Given the description of an element on the screen output the (x, y) to click on. 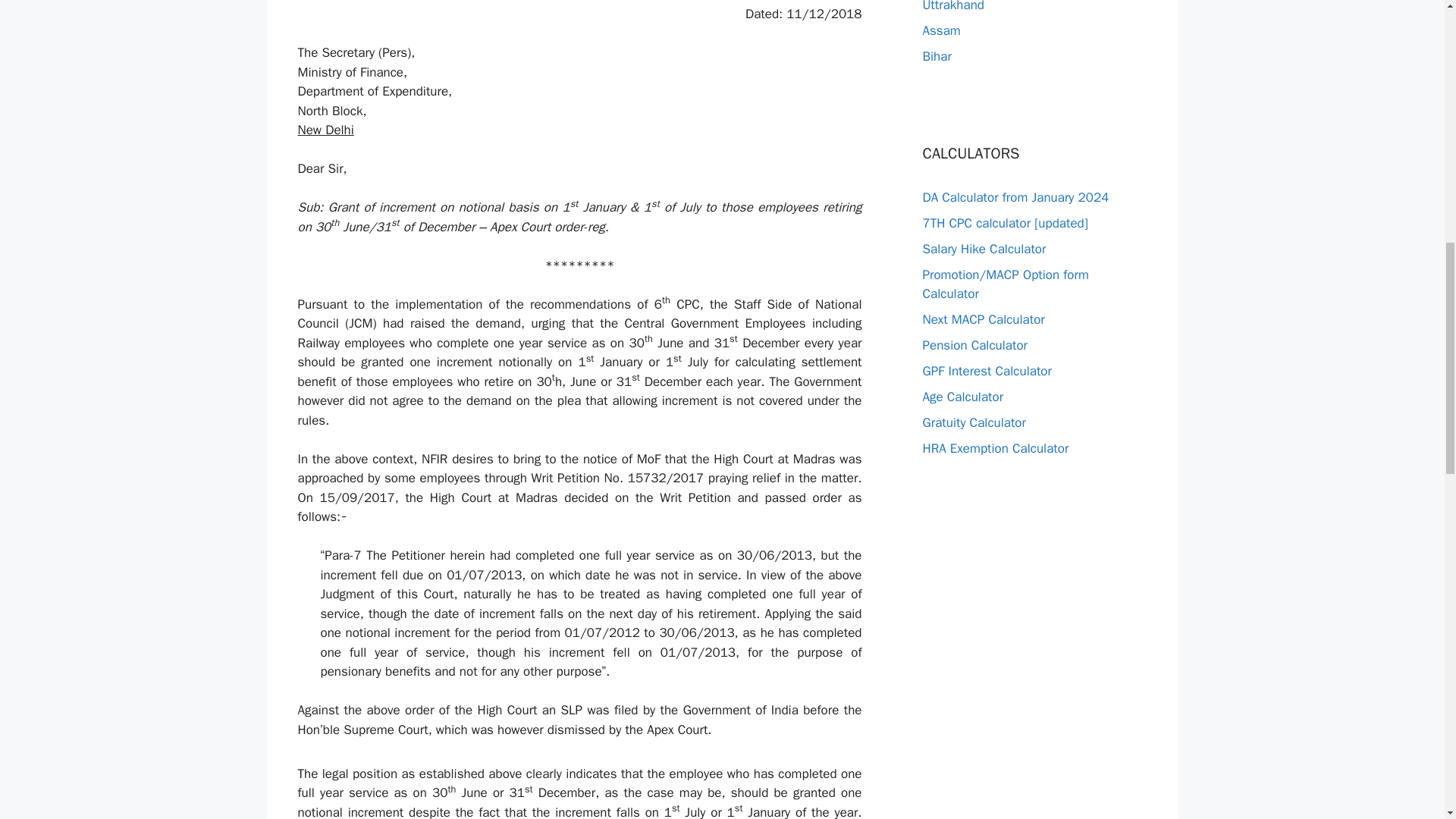
Assam (940, 30)
Pension Calculator (974, 344)
Next MACP Calculator (982, 319)
Scroll back to top (1406, 720)
DA Calculator from January 2024 (1014, 197)
Uttrakhand (952, 6)
Bihar (935, 56)
Salary Hike Calculator (983, 248)
